Given the description of an element on the screen output the (x, y) to click on. 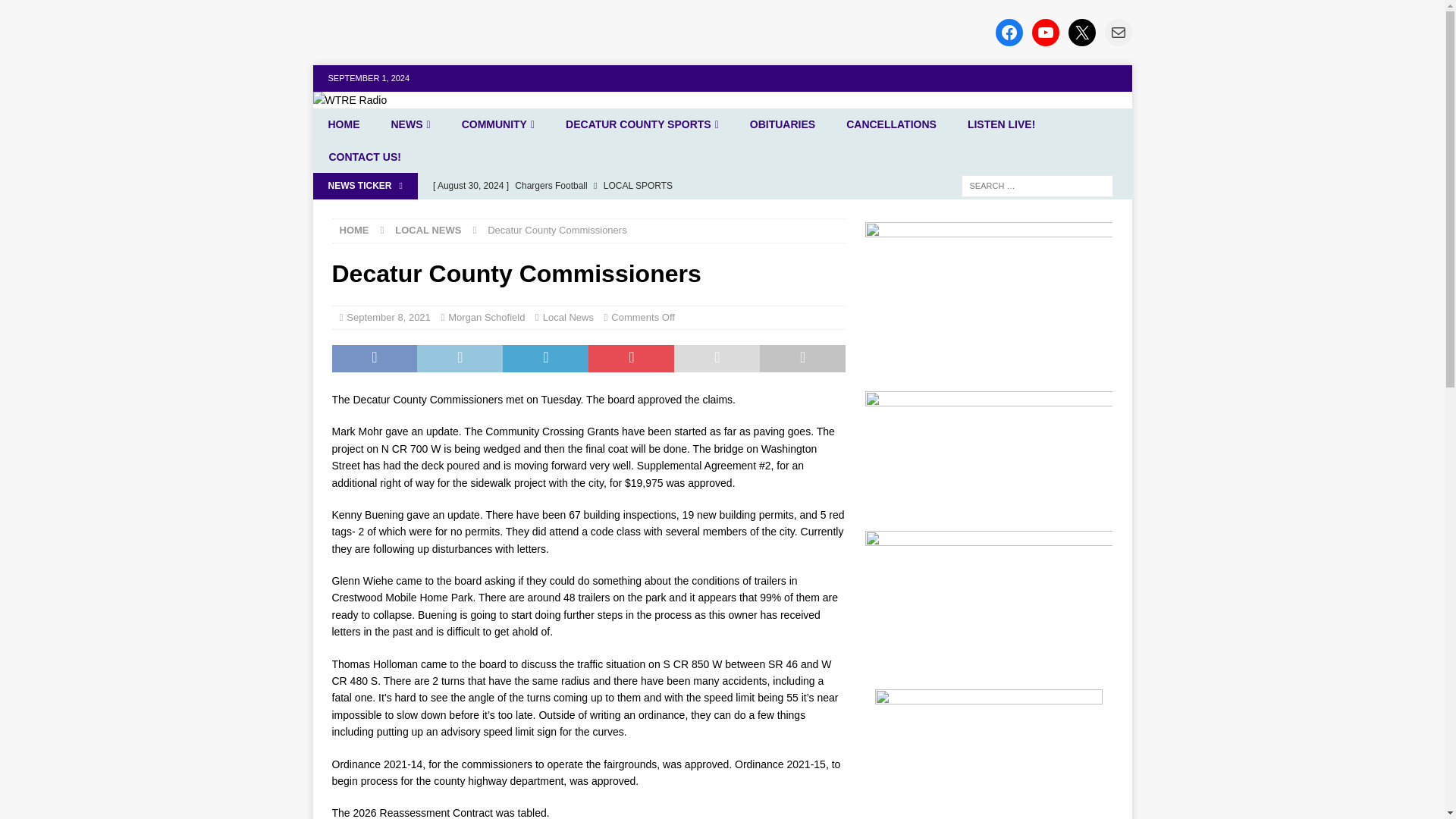
WTRE Radio (350, 100)
COMMUNITY (497, 124)
Search (56, 11)
HOME (354, 229)
HOME (343, 124)
OBITUARIES (781, 124)
Pirates Football (634, 211)
CANCELLATIONS (890, 124)
LISTEN LIVE! (1000, 124)
Chargers Football (634, 185)
